Given the description of an element on the screen output the (x, y) to click on. 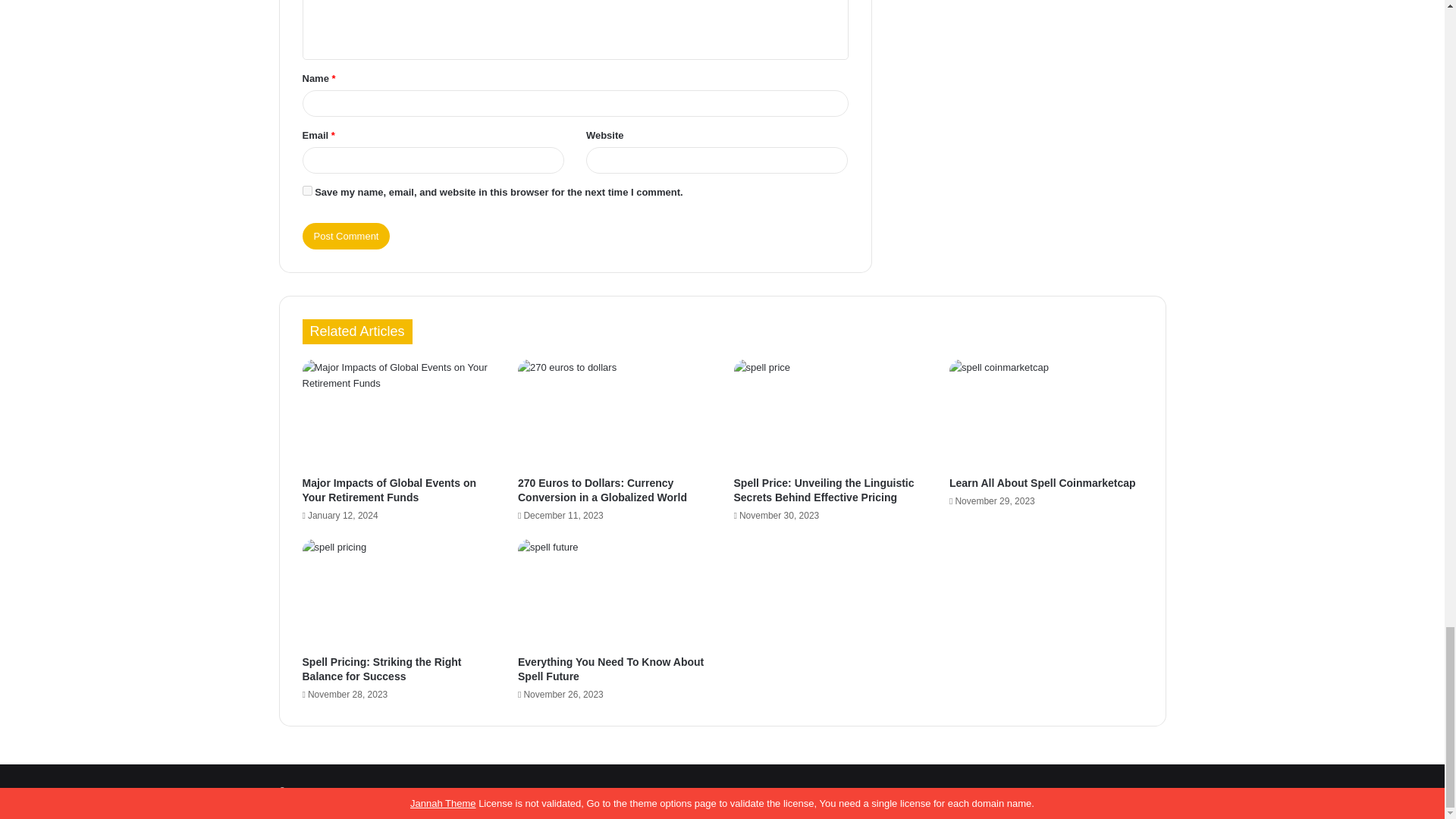
yes (306, 190)
Post Comment (345, 235)
